Given the description of an element on the screen output the (x, y) to click on. 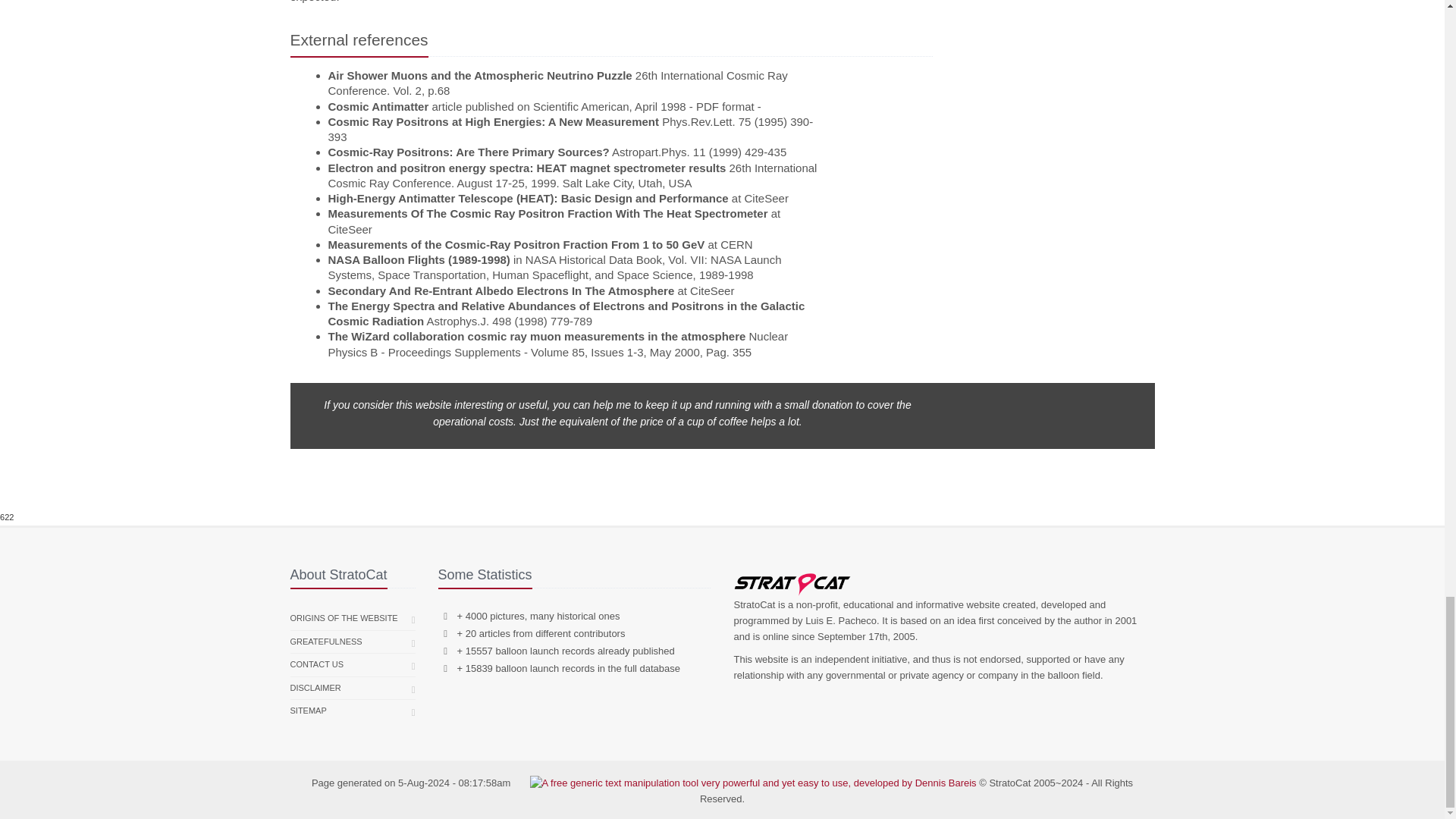
ORIGINS OF THE WEBSITE (343, 618)
Air Shower Muons and the Atmospheric Neutrino Puzzle (479, 74)
Secondary And Re-Entrant Albedo Electrons In The Atmosphere (500, 290)
GREATEFULNESS (325, 641)
DISCLAIMER (314, 688)
CONTACT US (316, 664)
